Given the description of an element on the screen output the (x, y) to click on. 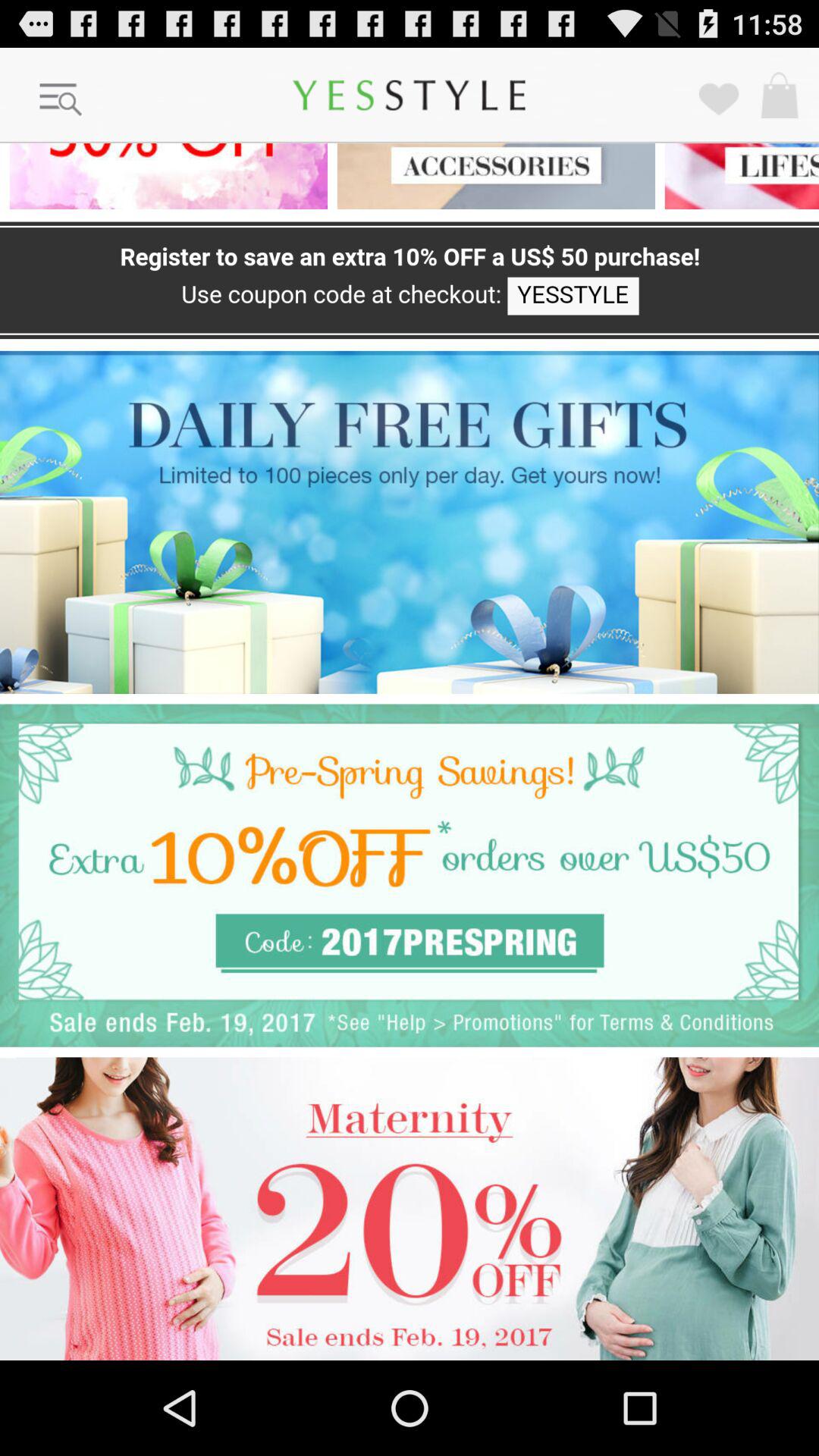
open page (163, 176)
